Given the description of an element on the screen output the (x, y) to click on. 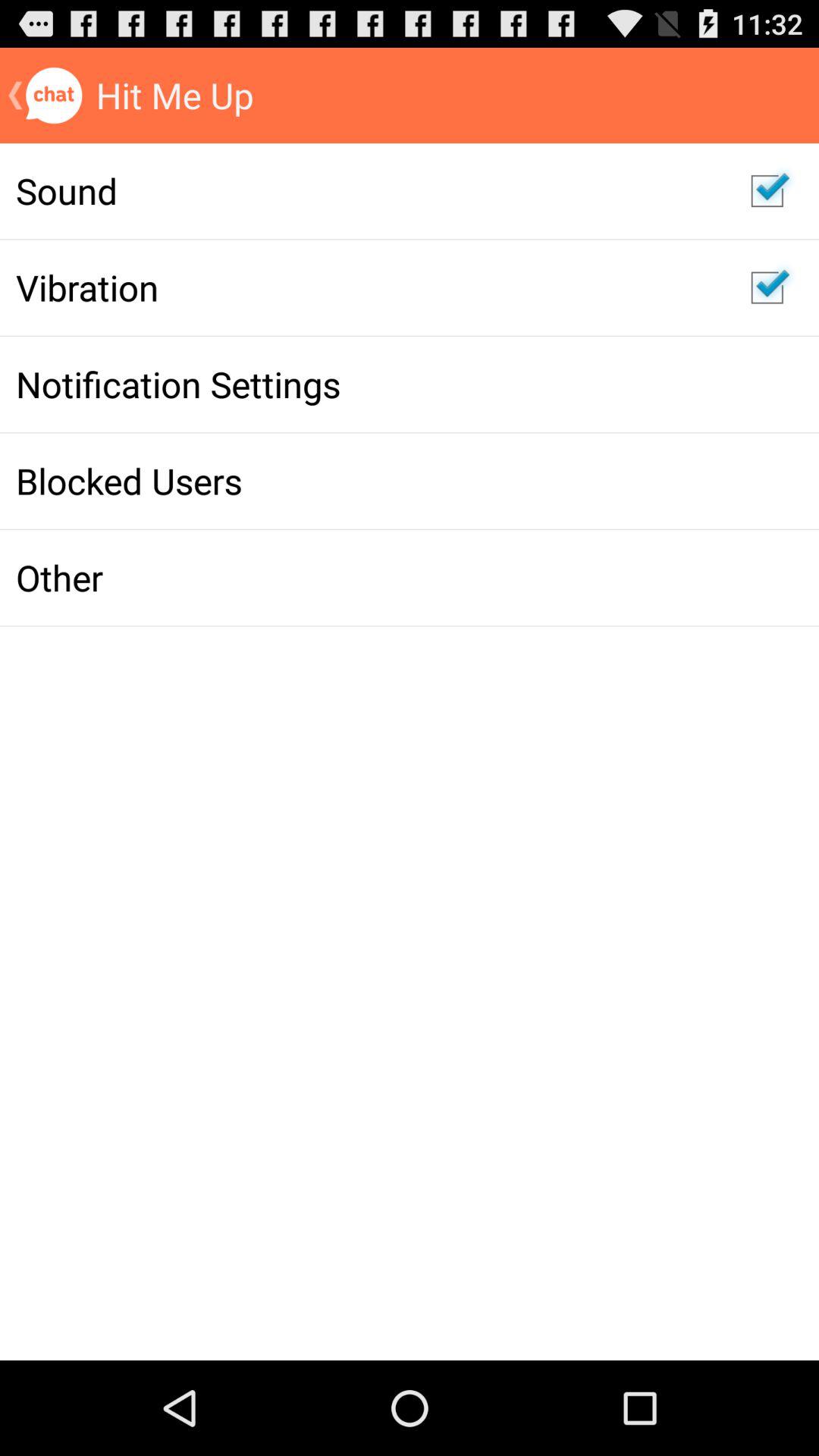
jump until blocked users (367, 480)
